Given the description of an element on the screen output the (x, y) to click on. 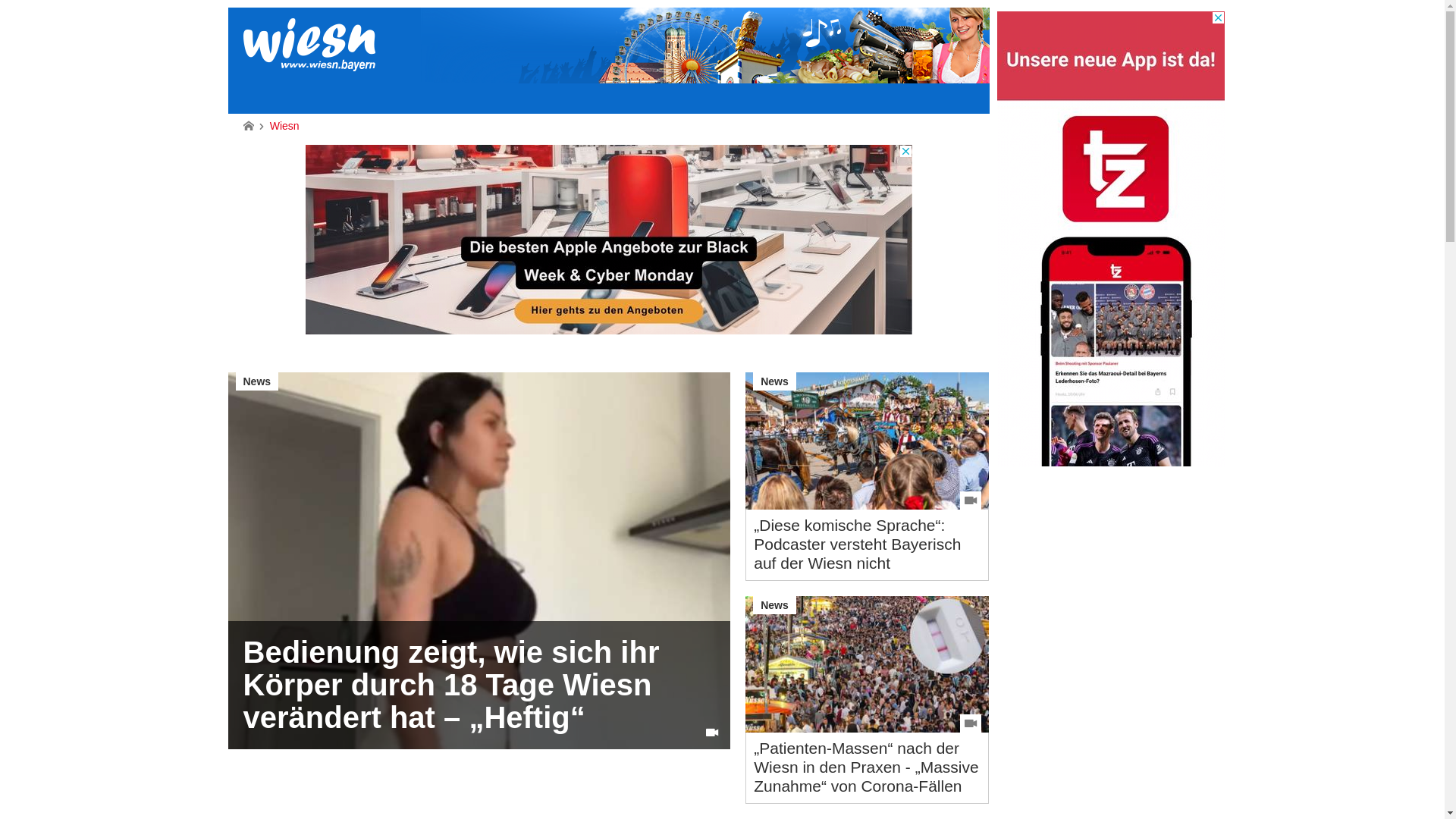
Nachrichten von Wiesn Element type: text (308, 44)
Wiesn Startseite Element type: text (247, 126)
Anmelden Element type: text (802, 276)
3rd party ad content Element type: hover (1109, 238)
Video Element type: text (970, 723)
Video Element type: text (970, 500)
3rd party ad content Element type: hover (607, 239)
Video Element type: text (711, 732)
Suchen Element type: text (923, 63)
zu IPPEN.MEDIA Element type: text (983, 12)
